Given the description of an element on the screen output the (x, y) to click on. 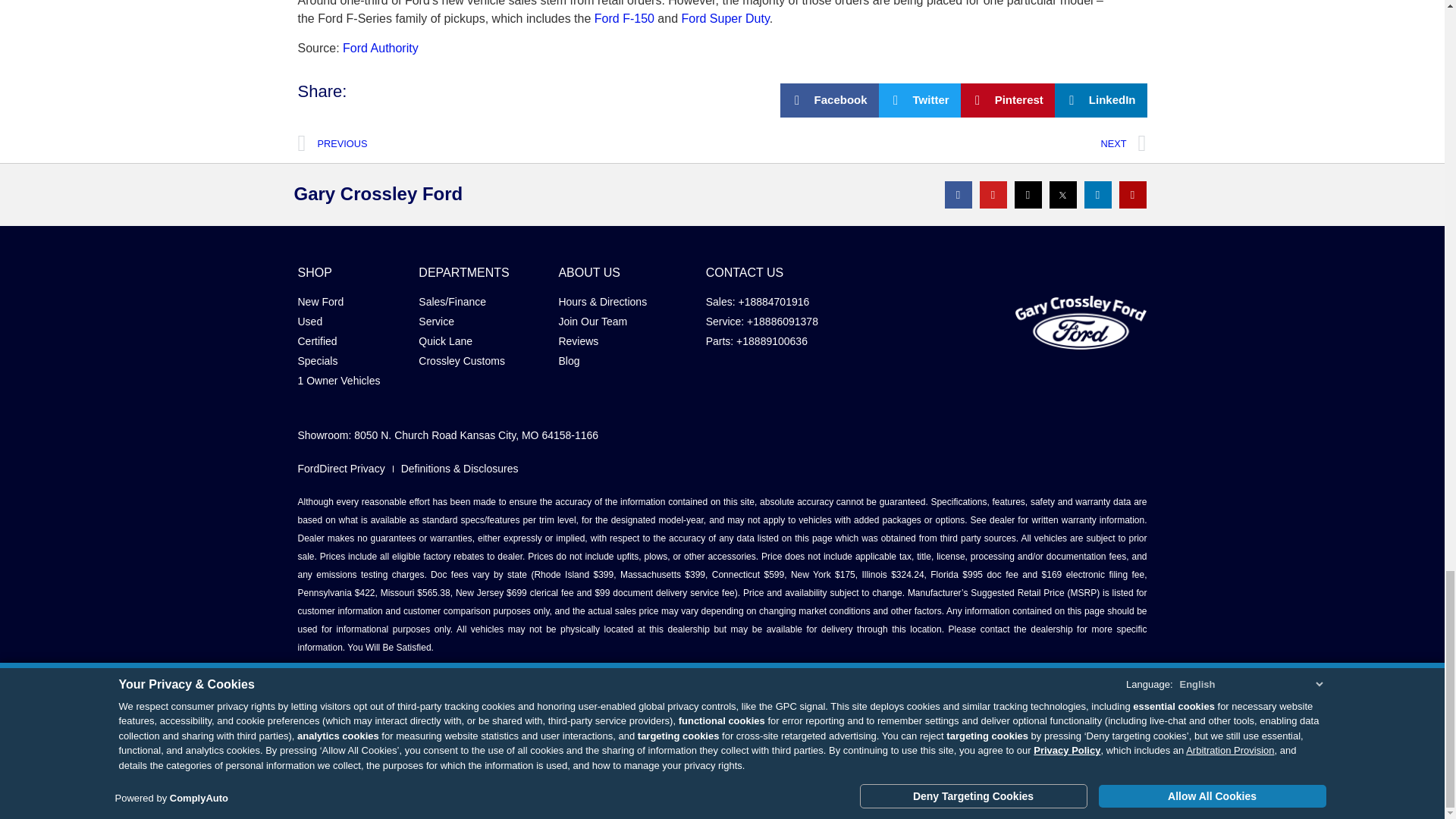
AdChoices (1118, 787)
